Given the description of an element on the screen output the (x, y) to click on. 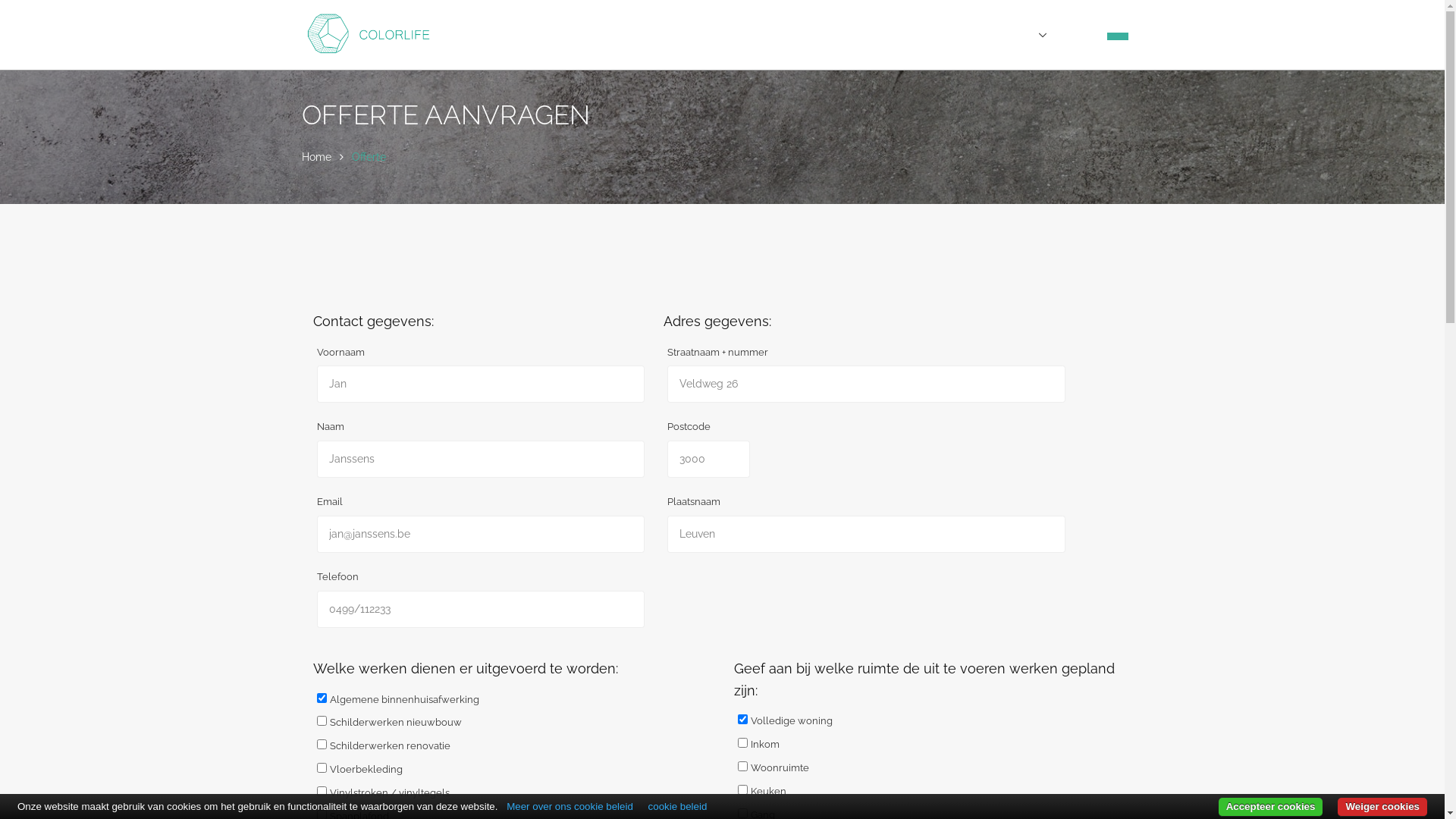
Home Element type: text (316, 156)
Weiger cookies Element type: text (1382, 806)
cookie beleid Element type: text (677, 806)
(CURRENT) Element type: text (1117, 36)
Meer over ons cookie beleid Element type: text (569, 806)
Accepteer cookies Element type: text (1270, 806)
